Given the description of an element on the screen output the (x, y) to click on. 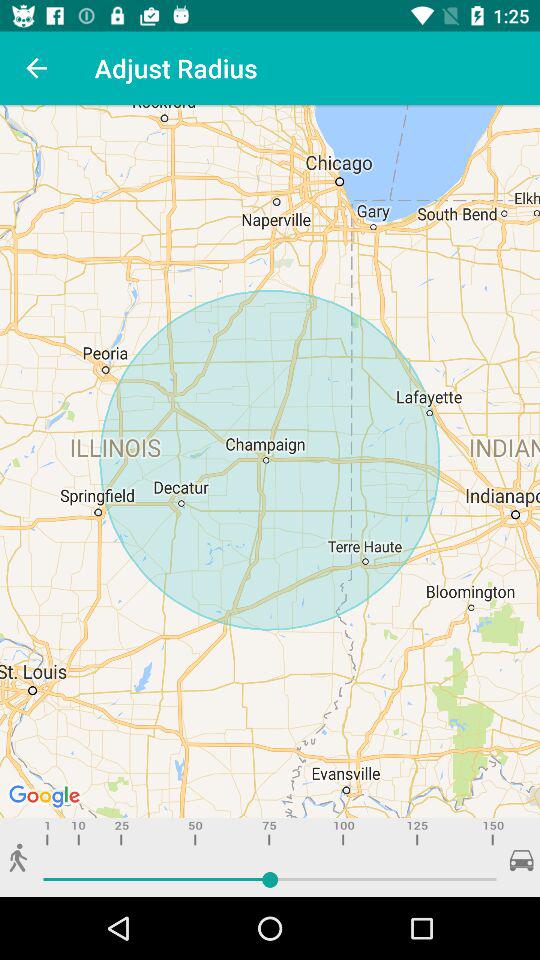
select icon to the left of the adjust radius icon (36, 68)
